Given the description of an element on the screen output the (x, y) to click on. 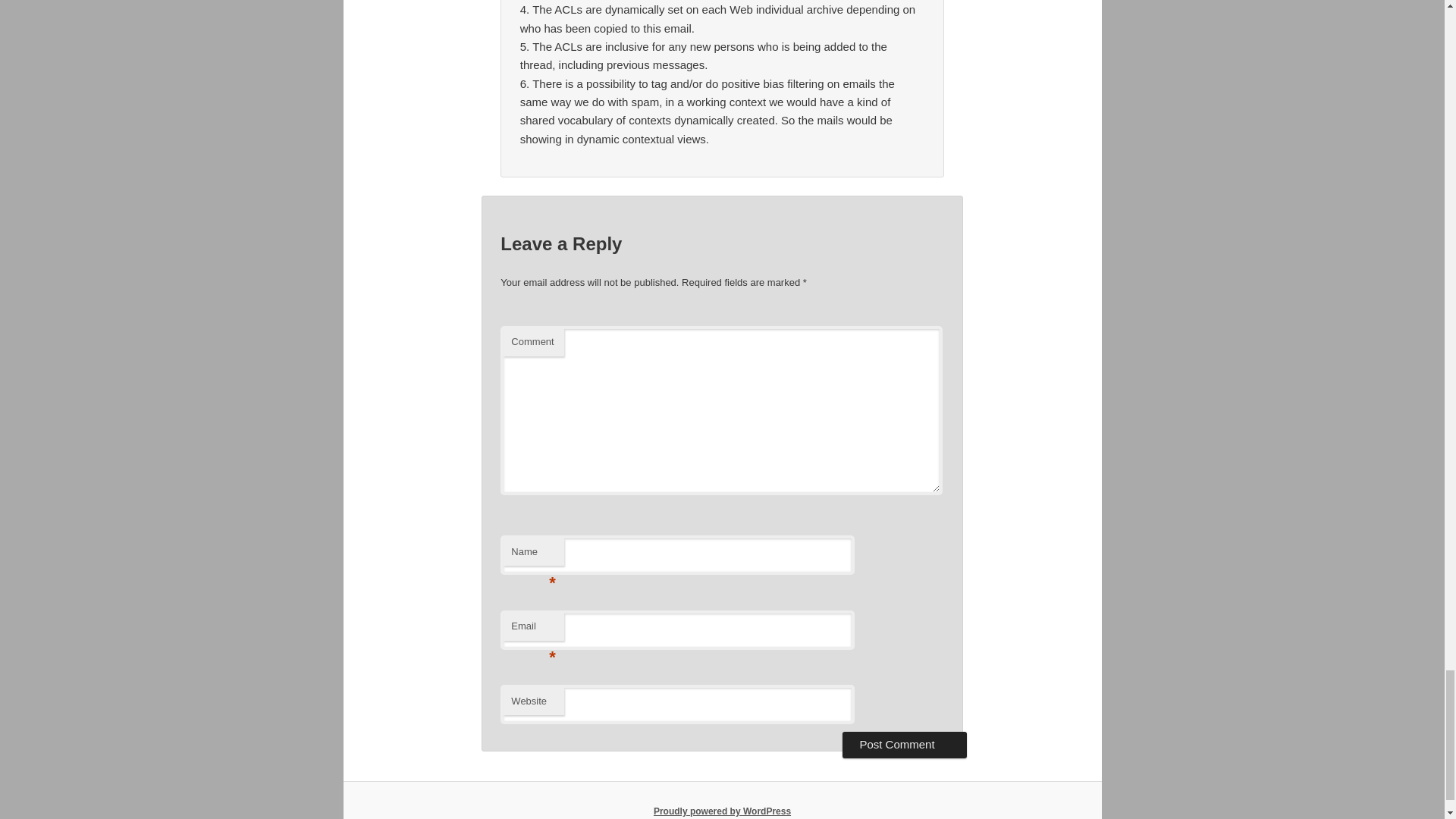
Post Comment (904, 744)
Semantic Personal Publishing Platform (721, 810)
